Given the description of an element on the screen output the (x, y) to click on. 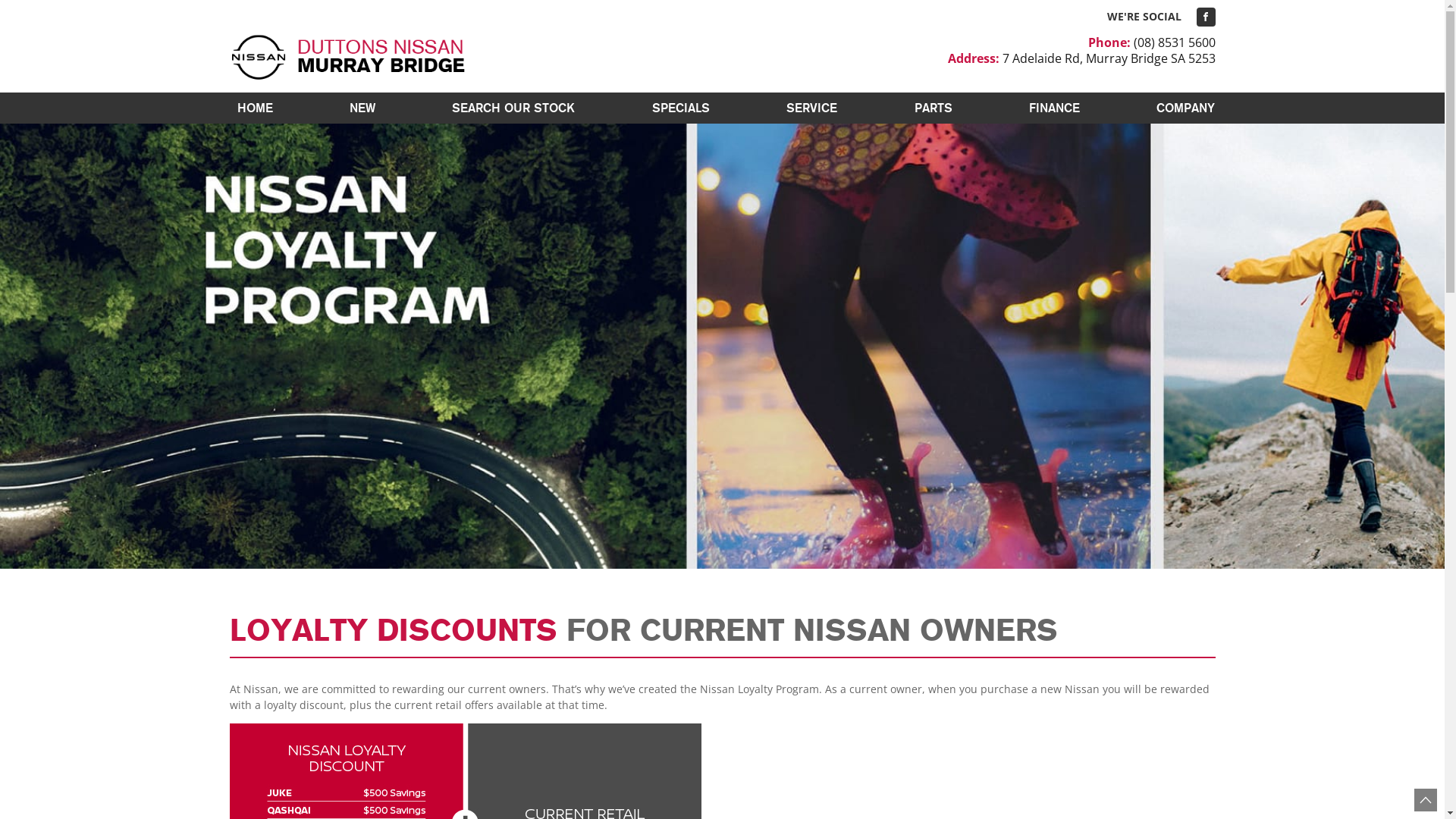
7 Adelaide Rd, Murray Bridge SA 5253 Element type: text (1108, 58)
PARTS Element type: text (933, 107)
SPECIALS Element type: text (680, 107)
FINANCE Element type: text (1054, 107)
(08) 8531 5600 Element type: text (1173, 42)
SEARCH OUR STOCK Element type: text (513, 107)
HOME Element type: text (254, 107)
SERVICE Element type: text (811, 107)
NEW Element type: text (362, 107)
COMPANY Element type: text (1181, 107)
